Given the description of an element on the screen output the (x, y) to click on. 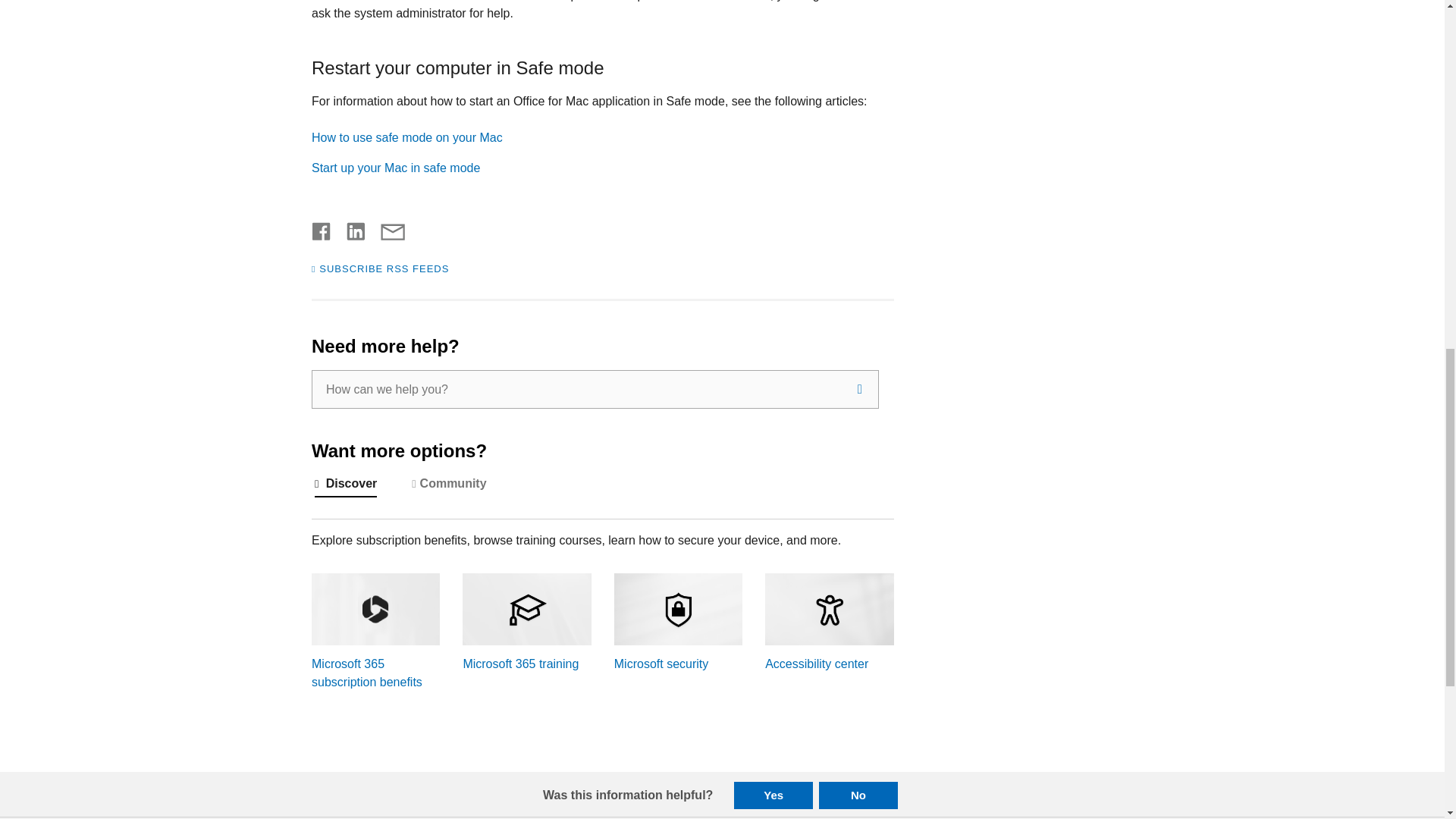
Share on LinkedIn (349, 229)
Share by email (385, 229)
Search (860, 389)
Share on Facebook (322, 229)
